Given the description of an element on the screen output the (x, y) to click on. 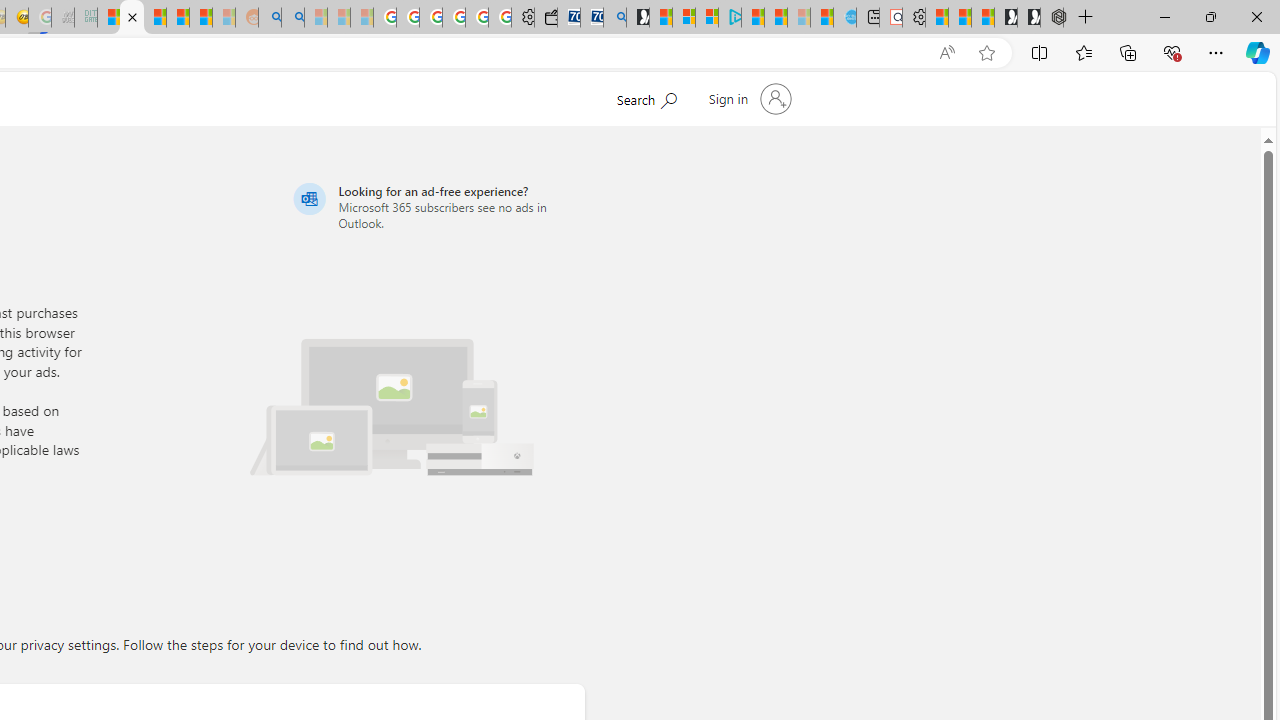
Looking for an ad-free experience? (436, 206)
Illustration of multiple devices (487, 448)
Student Loan Update: Forgiveness Program Ends This Month (200, 17)
